Given the description of an element on the screen output the (x, y) to click on. 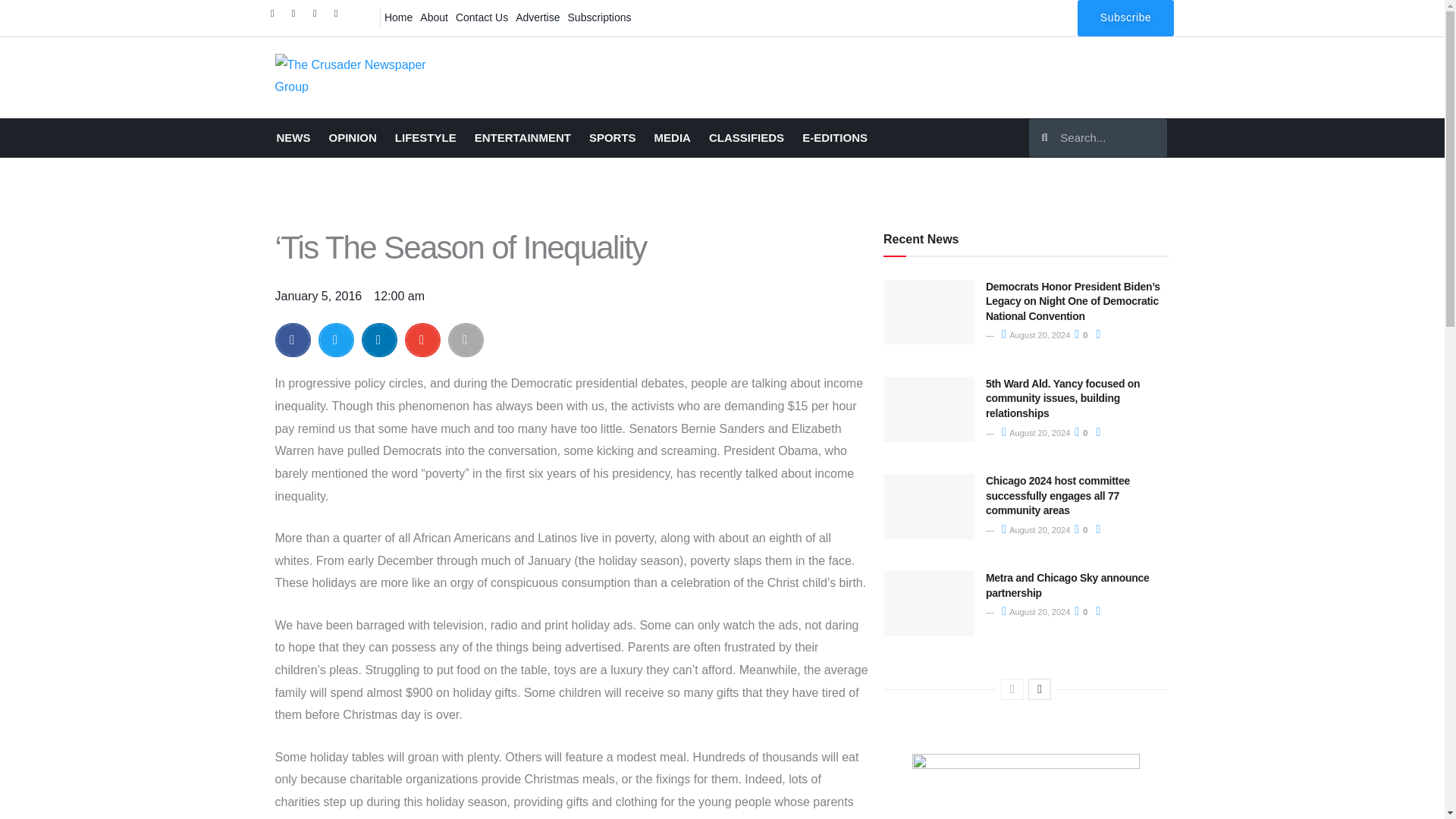
ENTERTAINMENT (522, 137)
About (433, 17)
NEWS (292, 137)
Subscribe (1125, 18)
Contact Us (481, 17)
Subscriptions (599, 17)
Previous (1012, 689)
Twitter (297, 17)
OPINION (352, 137)
LIFESTYLE (425, 137)
